Given the description of an element on the screen output the (x, y) to click on. 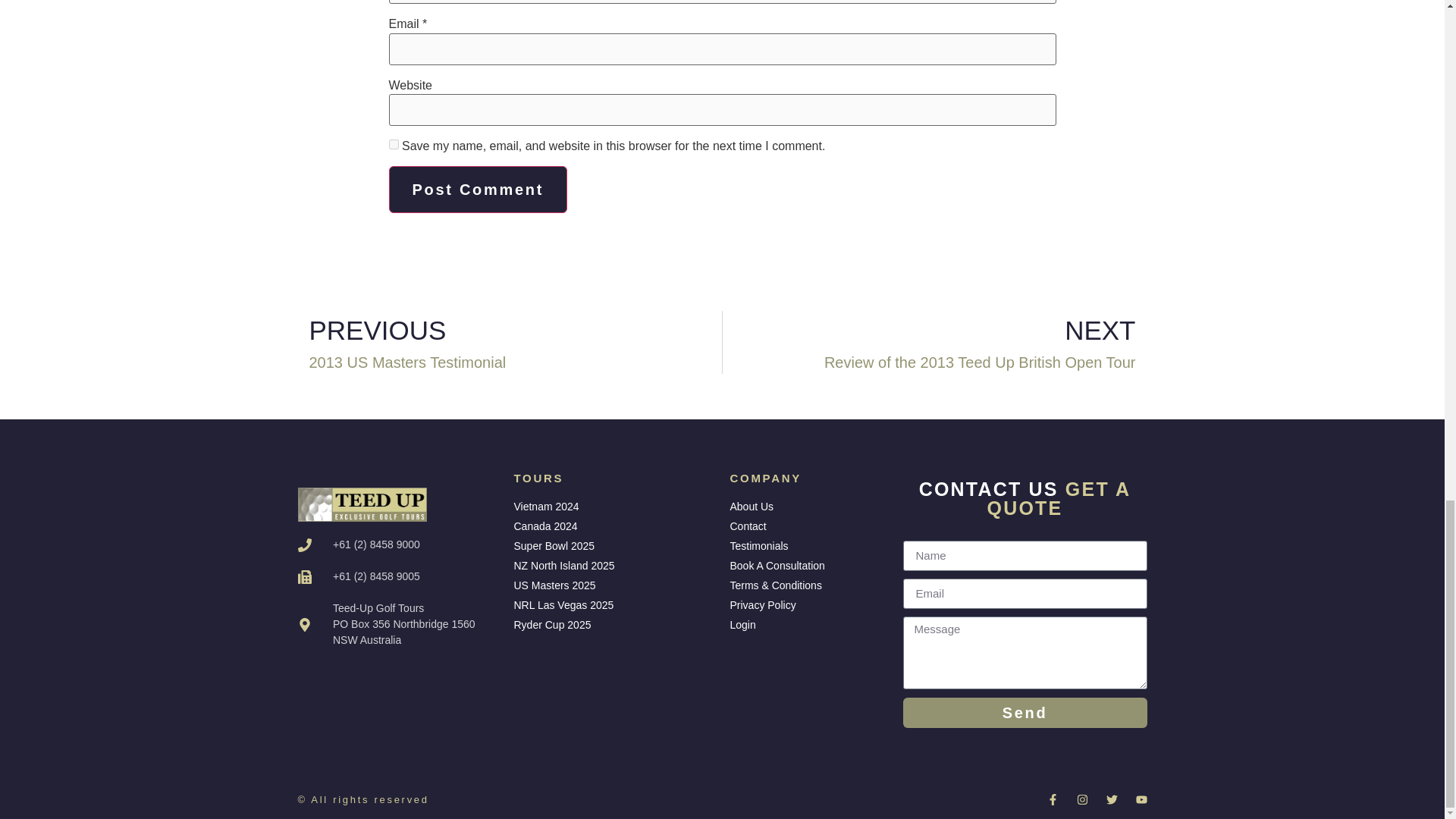
NZ North Island 2025 (613, 565)
Canada 2024 (509, 342)
NRL Las Vegas 2025 (934, 342)
About Us (613, 526)
Privacy Policy (613, 605)
Super Bowl 2025 (807, 506)
Login (807, 605)
yes (613, 546)
Send (807, 625)
Post Comment (392, 144)
Ryder Cup 2025 (1024, 712)
Testimonials (477, 189)
Vietnam 2024 (613, 625)
